Given the description of an element on the screen output the (x, y) to click on. 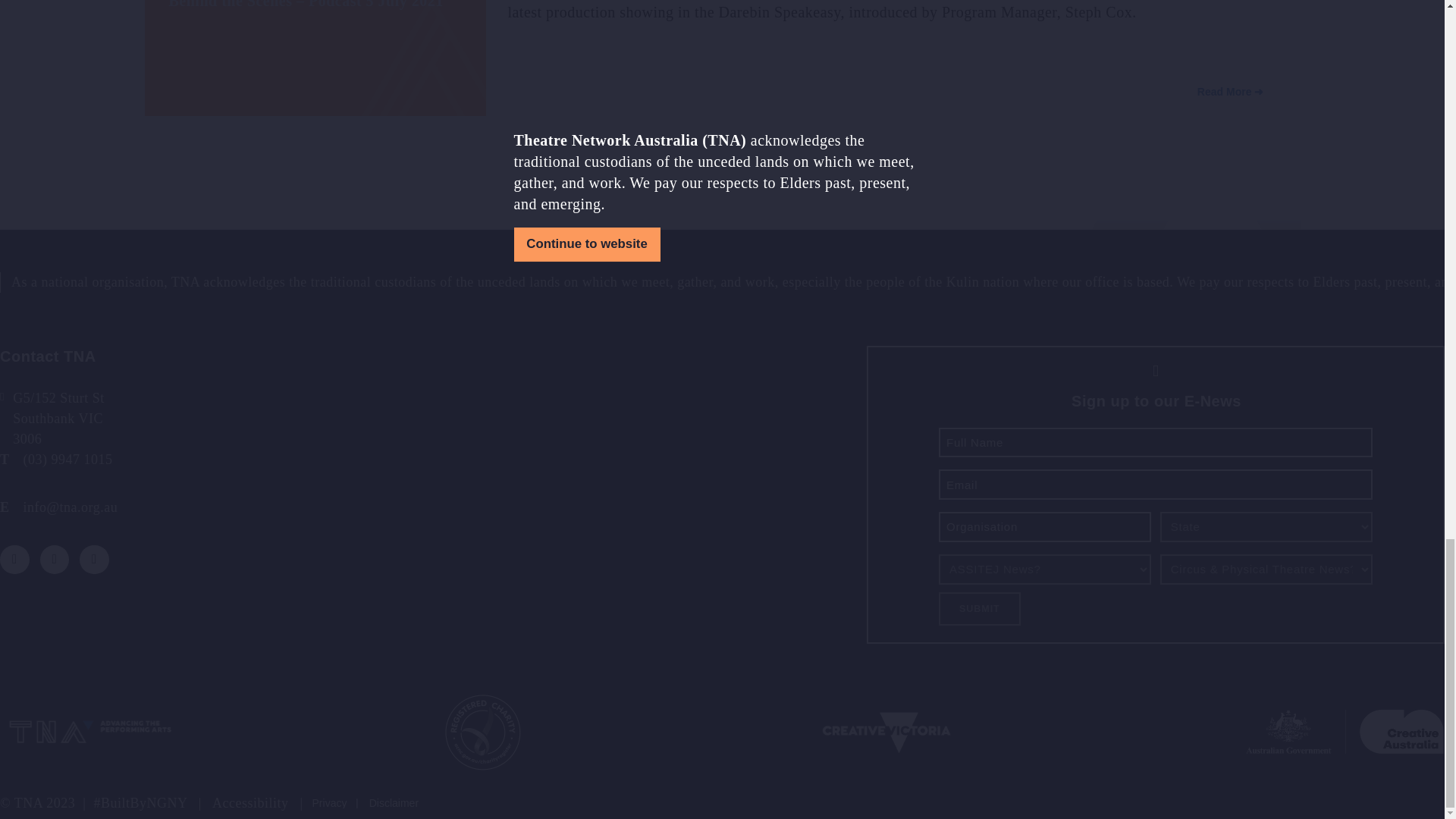
Read More (1230, 92)
Submit (979, 608)
